Given the description of an element on the screen output the (x, y) to click on. 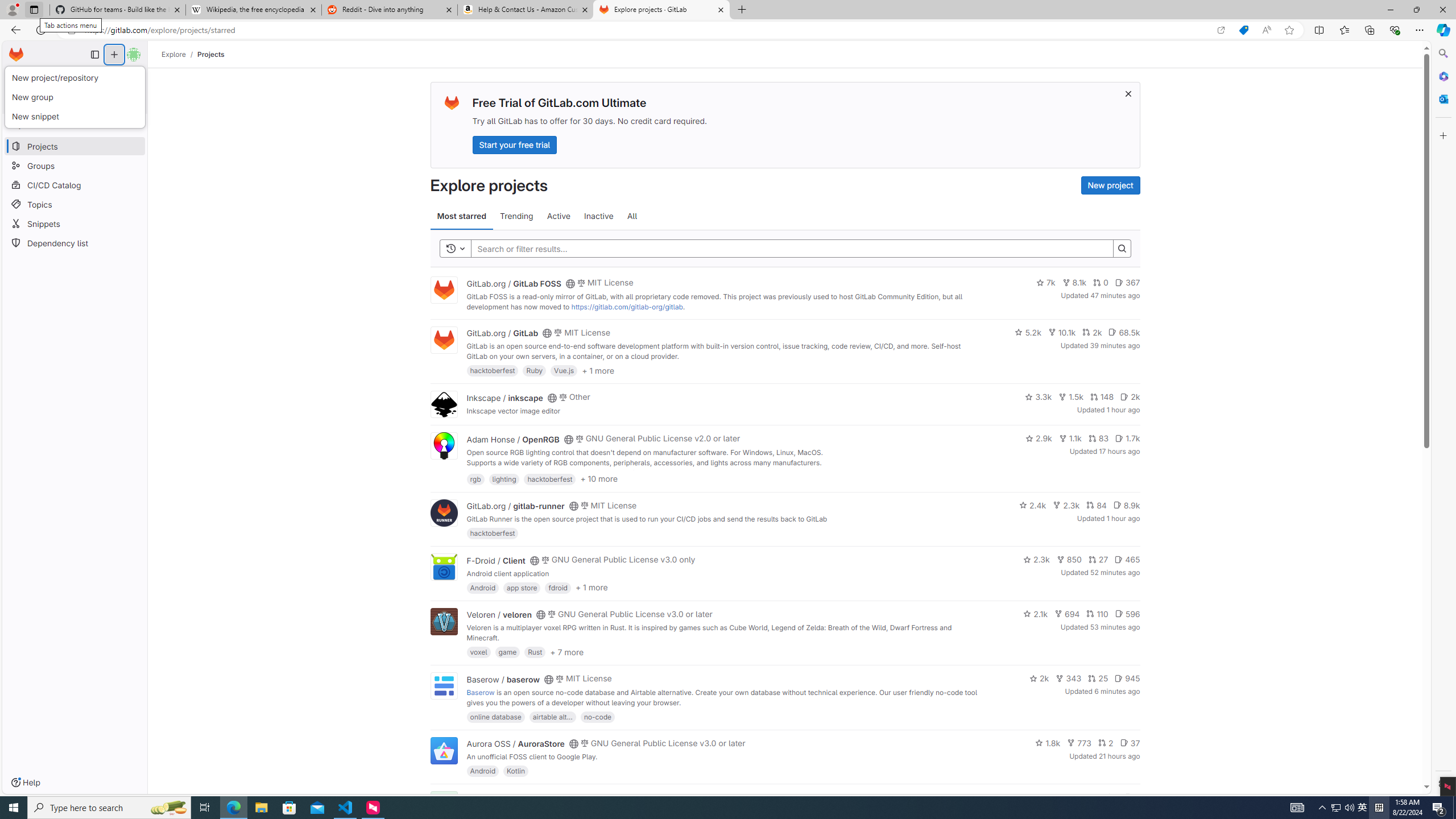
110 (1097, 613)
Active (559, 216)
5.2k (1027, 331)
Edouard Klein / falsisign (512, 797)
Help & Contact Us - Amazon Customer Service (525, 9)
Kotlin (515, 770)
84 (1096, 504)
945 (1127, 678)
Dependency list (74, 242)
68.5k (1124, 331)
